Given the description of an element on the screen output the (x, y) to click on. 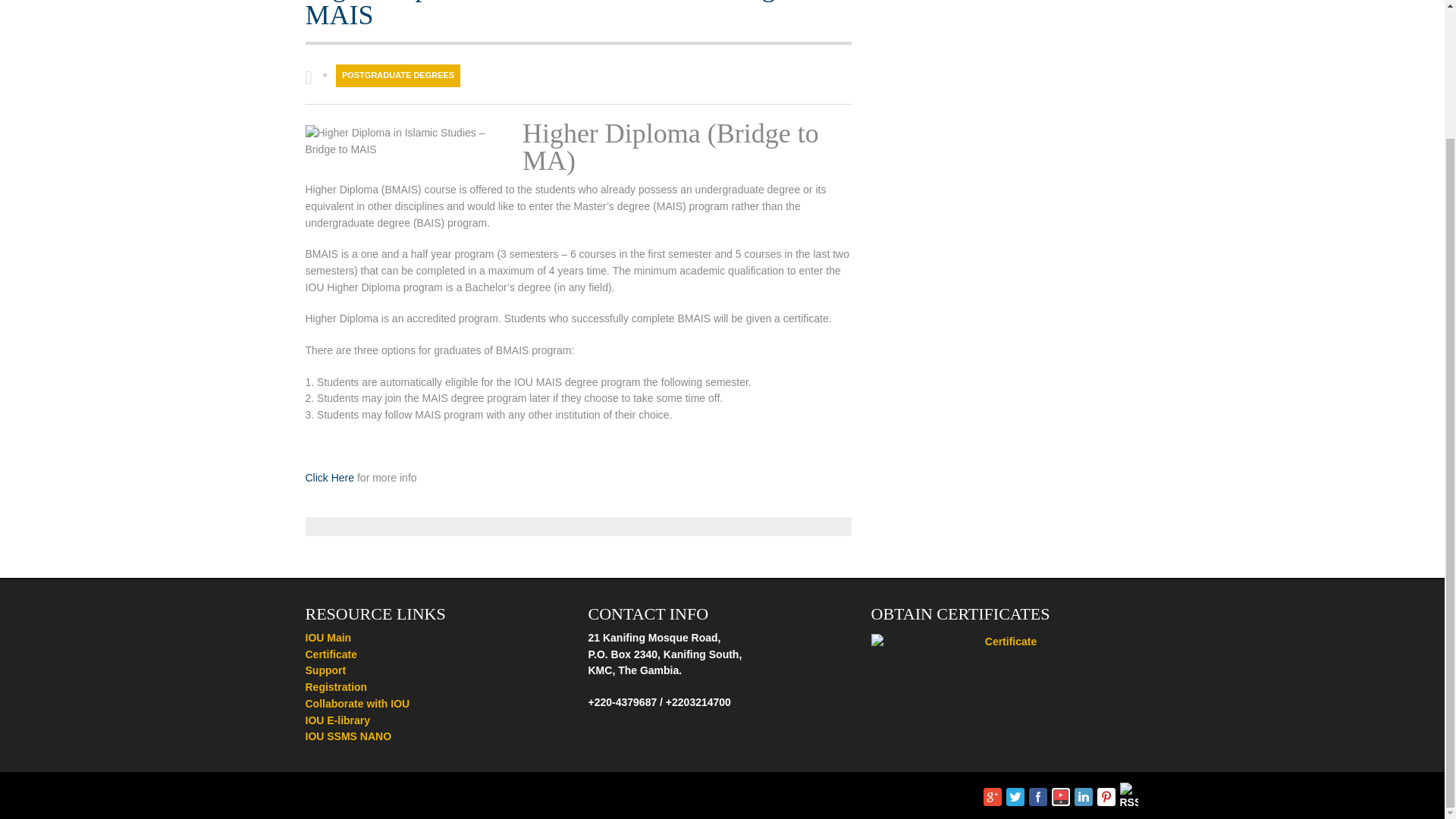
Support (325, 670)
IOU E-library (336, 720)
IOU SSMS NANO (347, 736)
Click Here (328, 477)
Collaborate with IOU (356, 703)
POSTGRADUATE DEGREES (398, 75)
IOU Main (327, 637)
Certificate (330, 654)
Registration (335, 686)
